Given the description of an element on the screen output the (x, y) to click on. 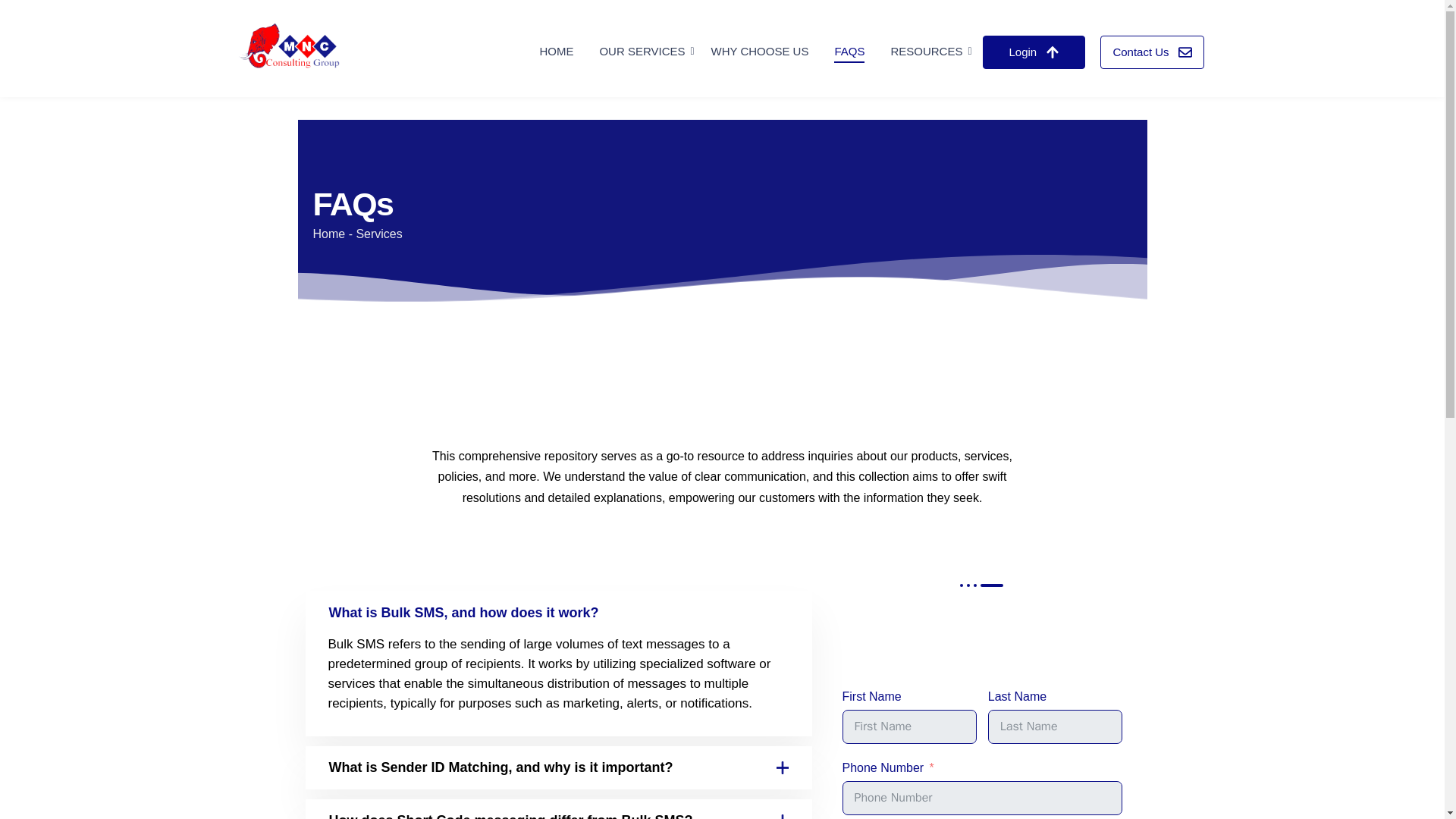
WHY CHOOSE US (759, 52)
HOME (556, 52)
Contact Us (1152, 52)
OUR SERVICES (642, 52)
FAQS (848, 52)
RESOURCES (926, 52)
Login (1033, 52)
